Given the description of an element on the screen output the (x, y) to click on. 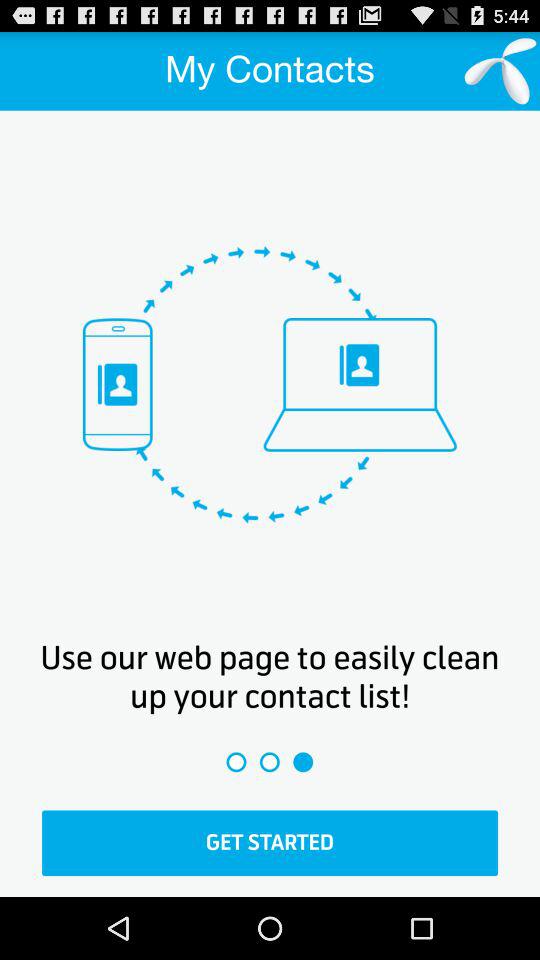
scroll until get started item (269, 843)
